Given the description of an element on the screen output the (x, y) to click on. 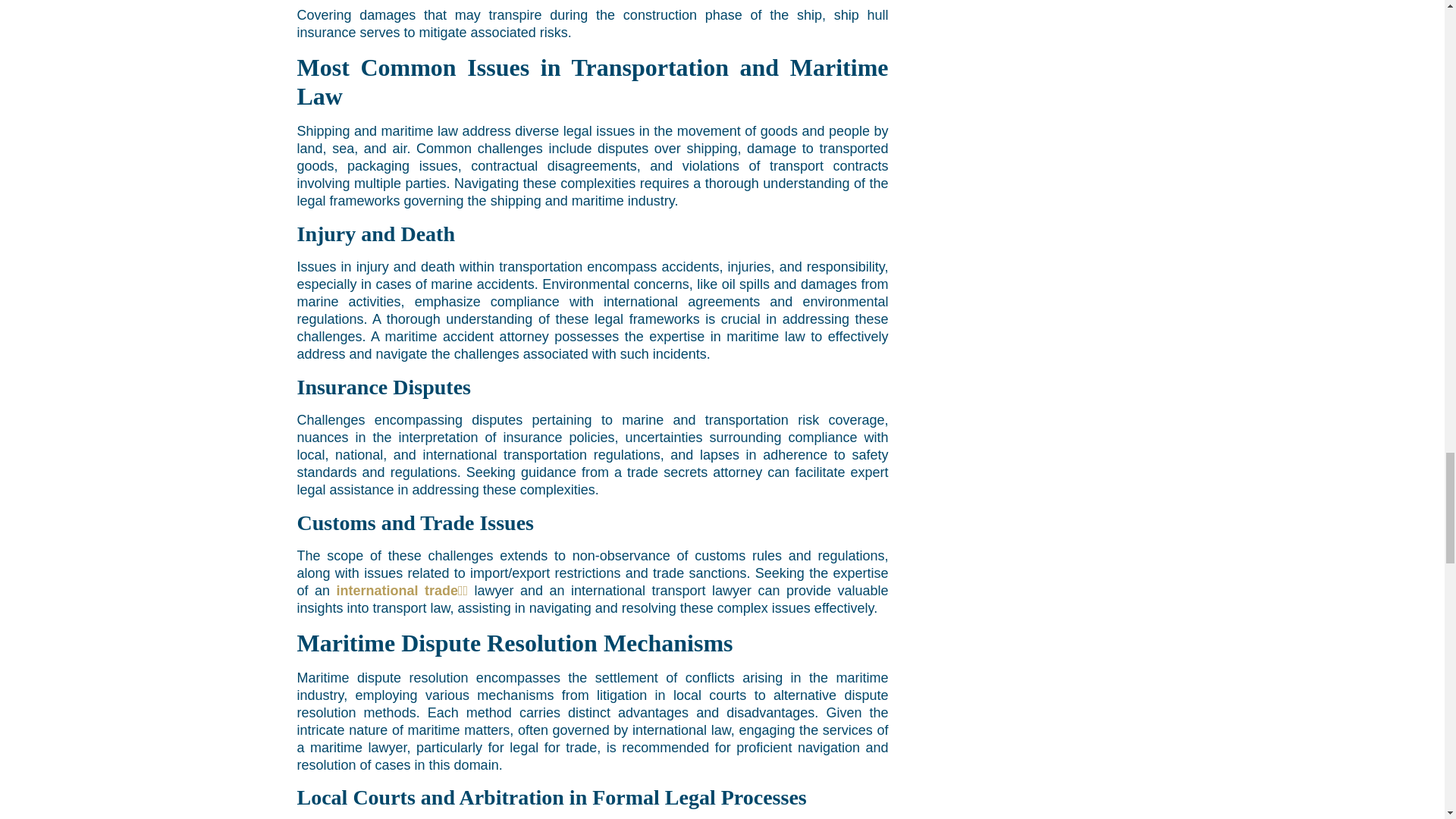
international commercial litigation (401, 590)
